Given the description of an element on the screen output the (x, y) to click on. 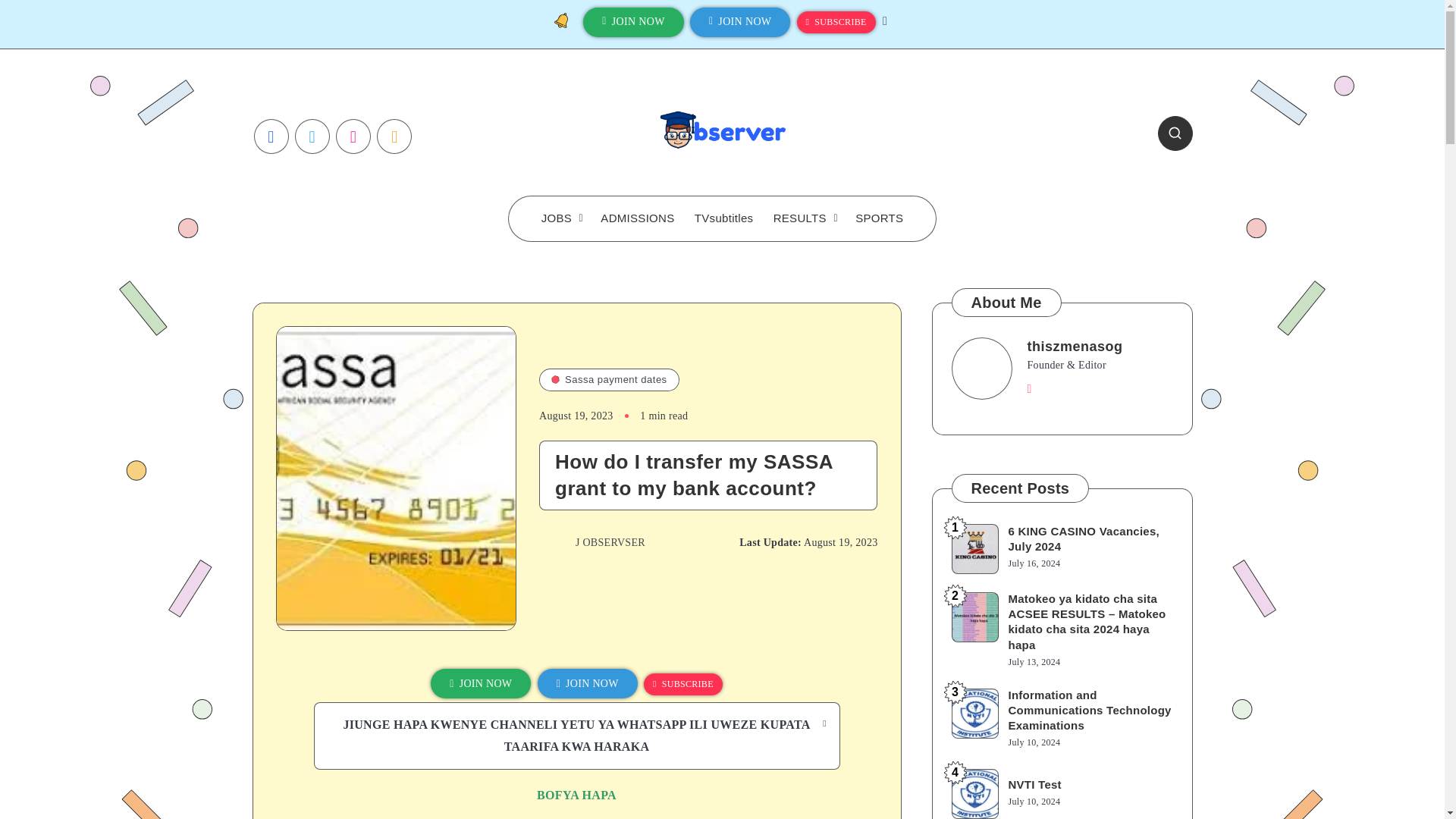
ADMISSIONS (636, 218)
JOIN NOW (740, 21)
SUBSCRIBE (836, 22)
JOIN NOW (633, 21)
TVsubtitles (724, 218)
RESULTS (800, 218)
Author: J OBSERVSER (591, 542)
JOBS (556, 218)
